Given the description of an element on the screen output the (x, y) to click on. 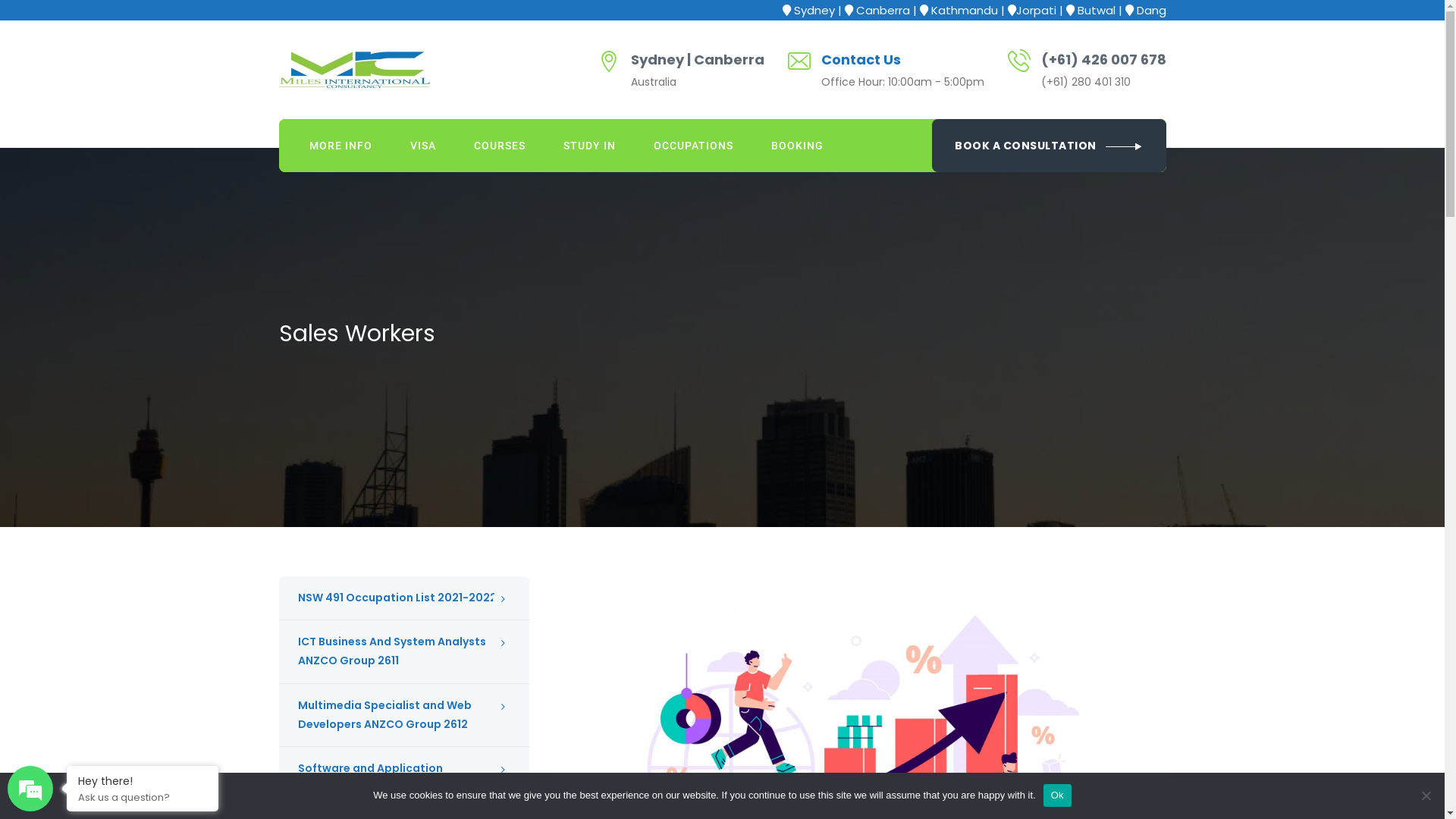
Dang Element type: text (1150, 10)
No Element type: hover (1425, 795)
ICT Business And System Analysts ANZCO Group 2611 Element type: text (404, 651)
BOOKING Element type: text (797, 145)
MORE INFO Element type: text (339, 145)
Ok Element type: text (1057, 795)
OCCUPATIONS Element type: text (692, 145)
NSW 491 Occupation List 2021-2022 Element type: text (404, 597)
STUDY IN Element type: text (589, 145)
Software and Application Programmer ANZSCO 2613 Element type: text (404, 777)
Butwal Element type: text (1095, 10)
Sydney Element type: text (813, 10)
VISA Element type: text (423, 145)
Multimedia Specialist and Web Developers ANZCO Group 2612 Element type: text (404, 715)
VISA & IMMIGRATION AU Element type: hover (354, 69)
Contact Us Element type: text (860, 59)
Canberra Element type: text (882, 10)
COURSES Element type: text (499, 145)
Kathmandu Element type: text (964, 10)
BOOK A CONSULTATION Element type: text (1048, 145)
